Given the description of an element on the screen output the (x, y) to click on. 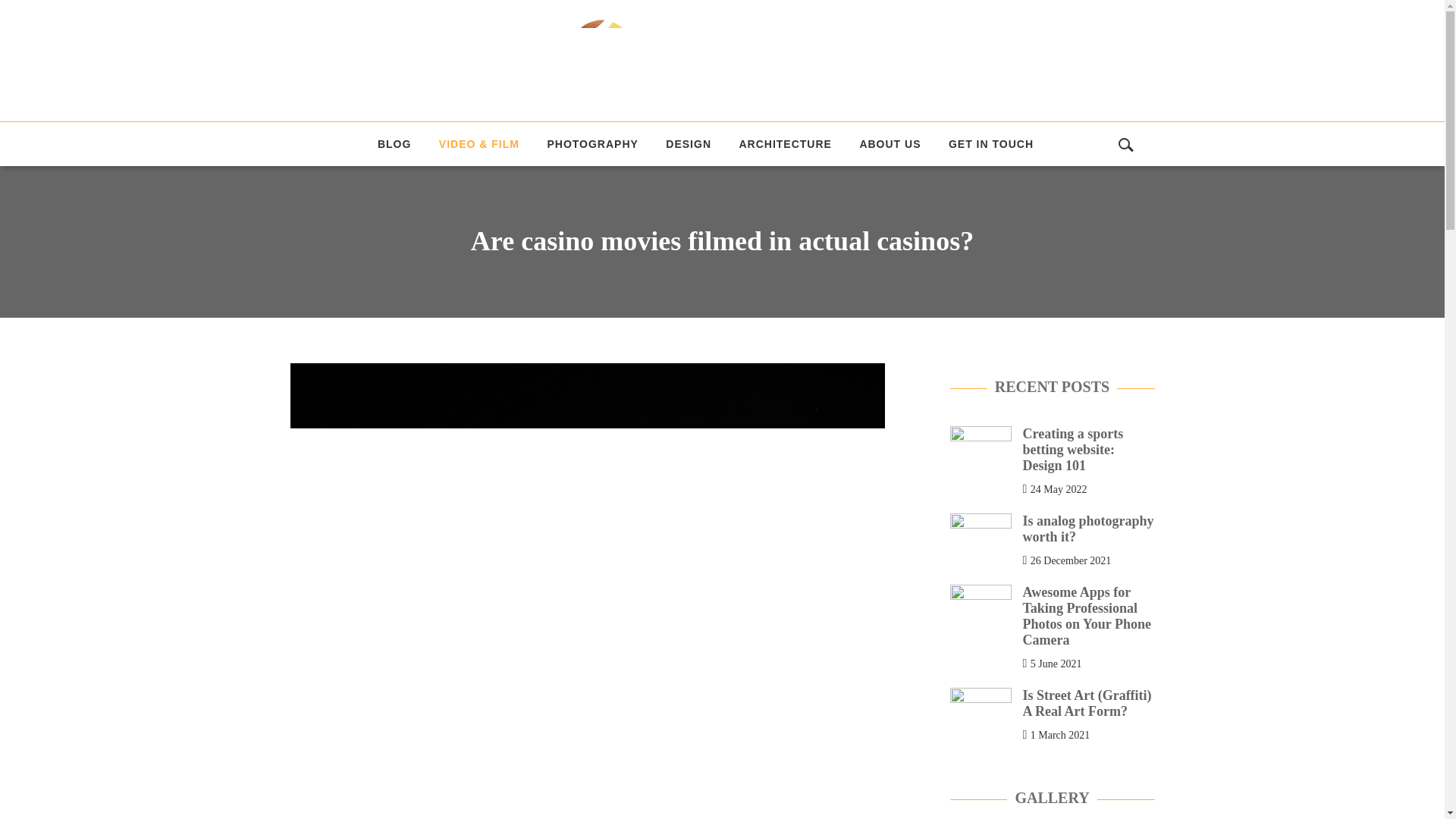
Photography (591, 144)
24 May 2022 (1058, 488)
BLOG (394, 144)
DESIGN (688, 144)
26 December 2021 (1071, 559)
ABOUT US (890, 144)
Design (688, 144)
Creating a sports betting website: Design 101 (1072, 449)
PHOTOGRAPHY (591, 144)
ARCHITECTURE (784, 144)
